Given the description of an element on the screen output the (x, y) to click on. 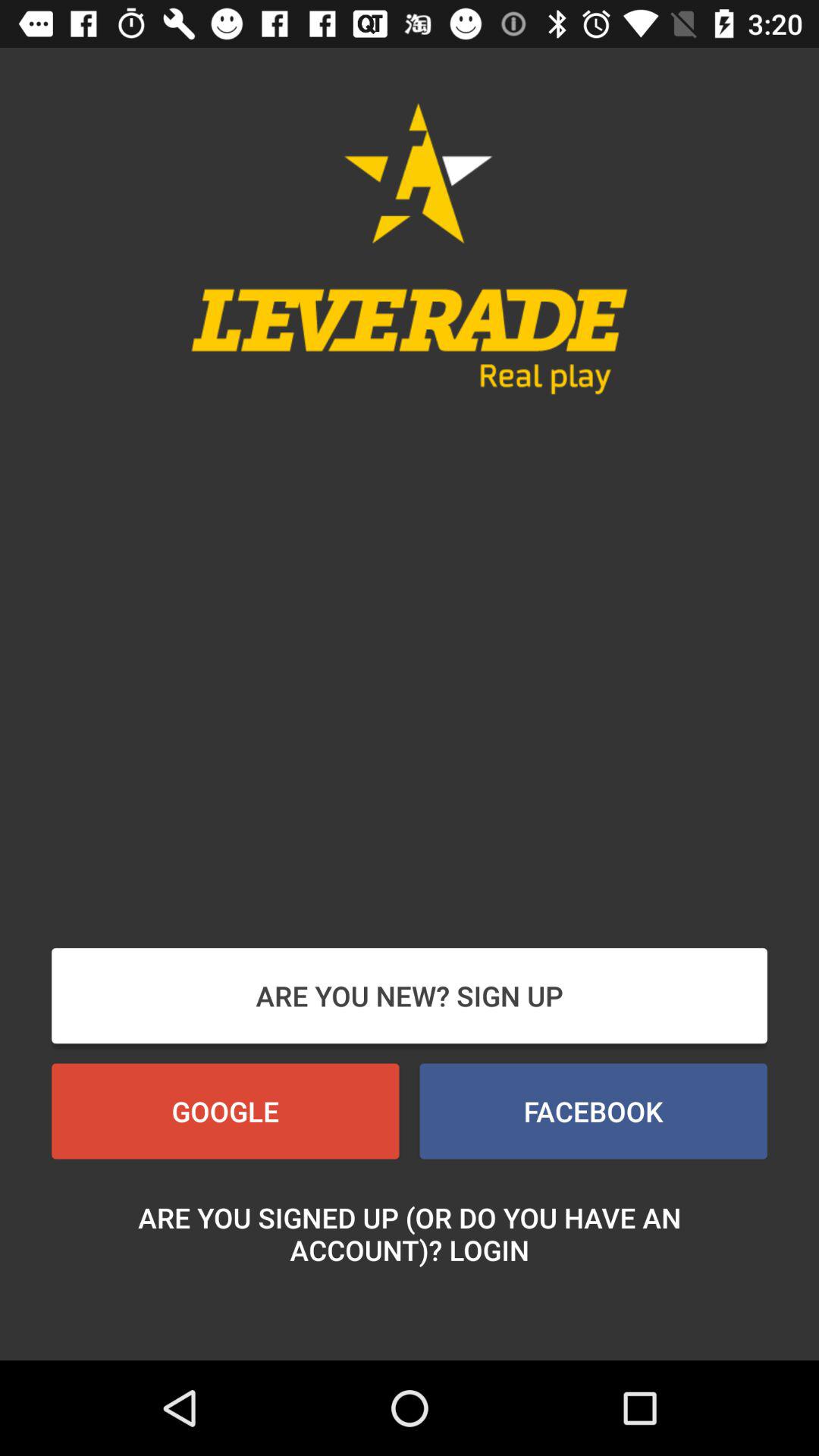
select the icon above the are you signed icon (593, 1111)
